Given the description of an element on the screen output the (x, y) to click on. 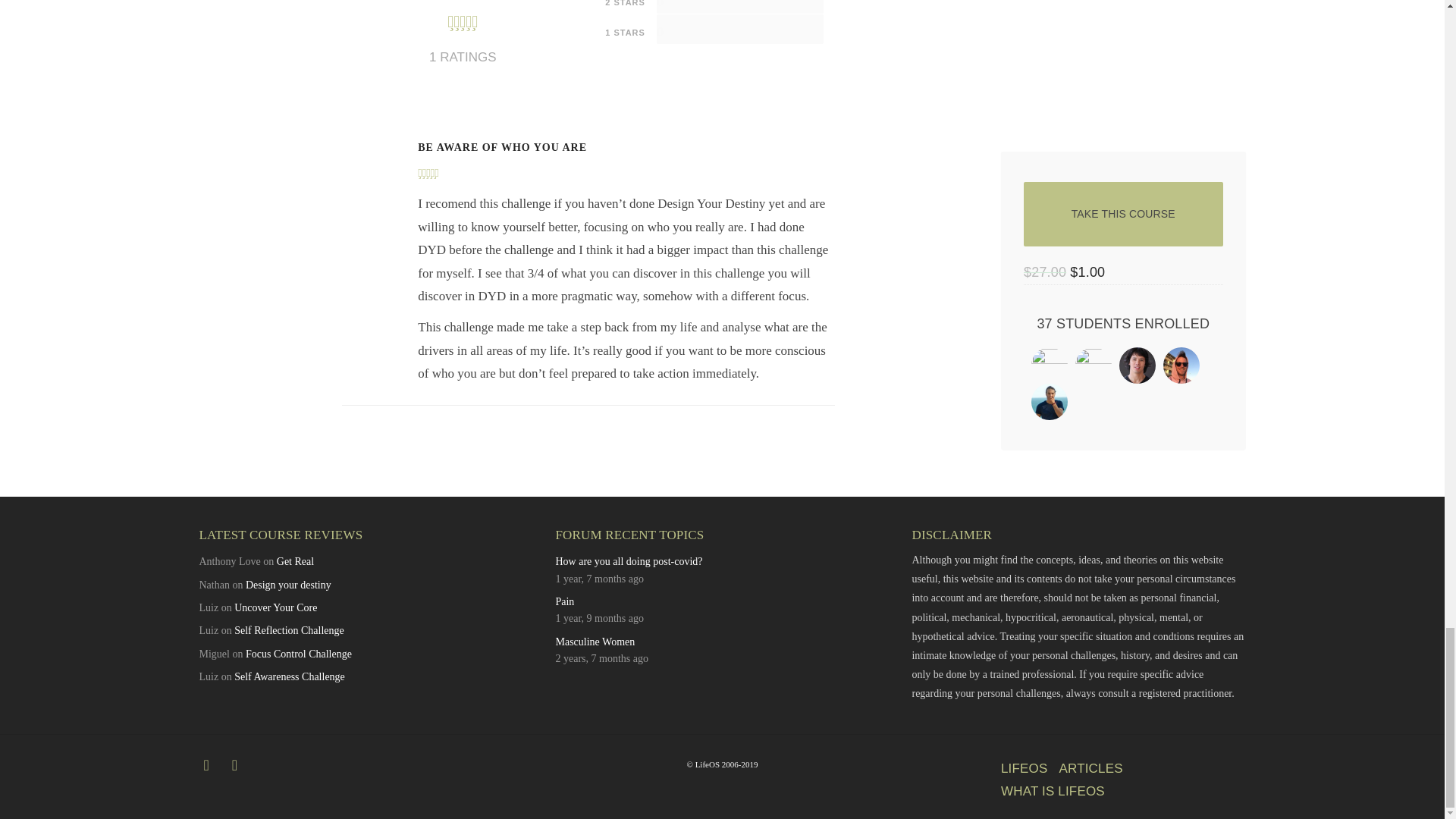
Design your destiny (288, 584)
twitter (205, 764)
facebook (234, 764)
Get Real (295, 561)
